Given the description of an element on the screen output the (x, y) to click on. 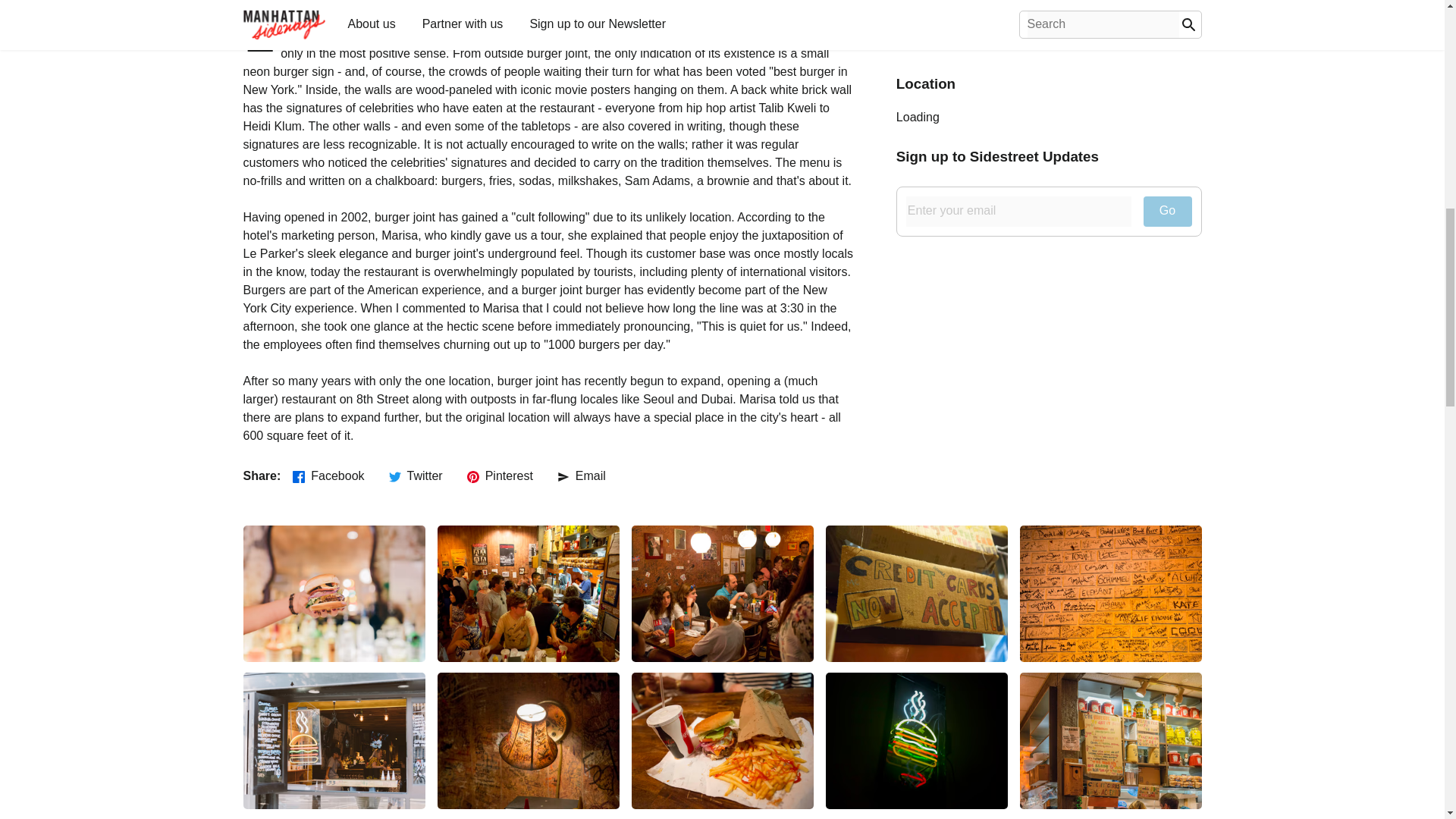
Facebook (328, 476)
Twitter (415, 476)
Email (581, 476)
Pinterest (499, 476)
